Given the description of an element on the screen output the (x, y) to click on. 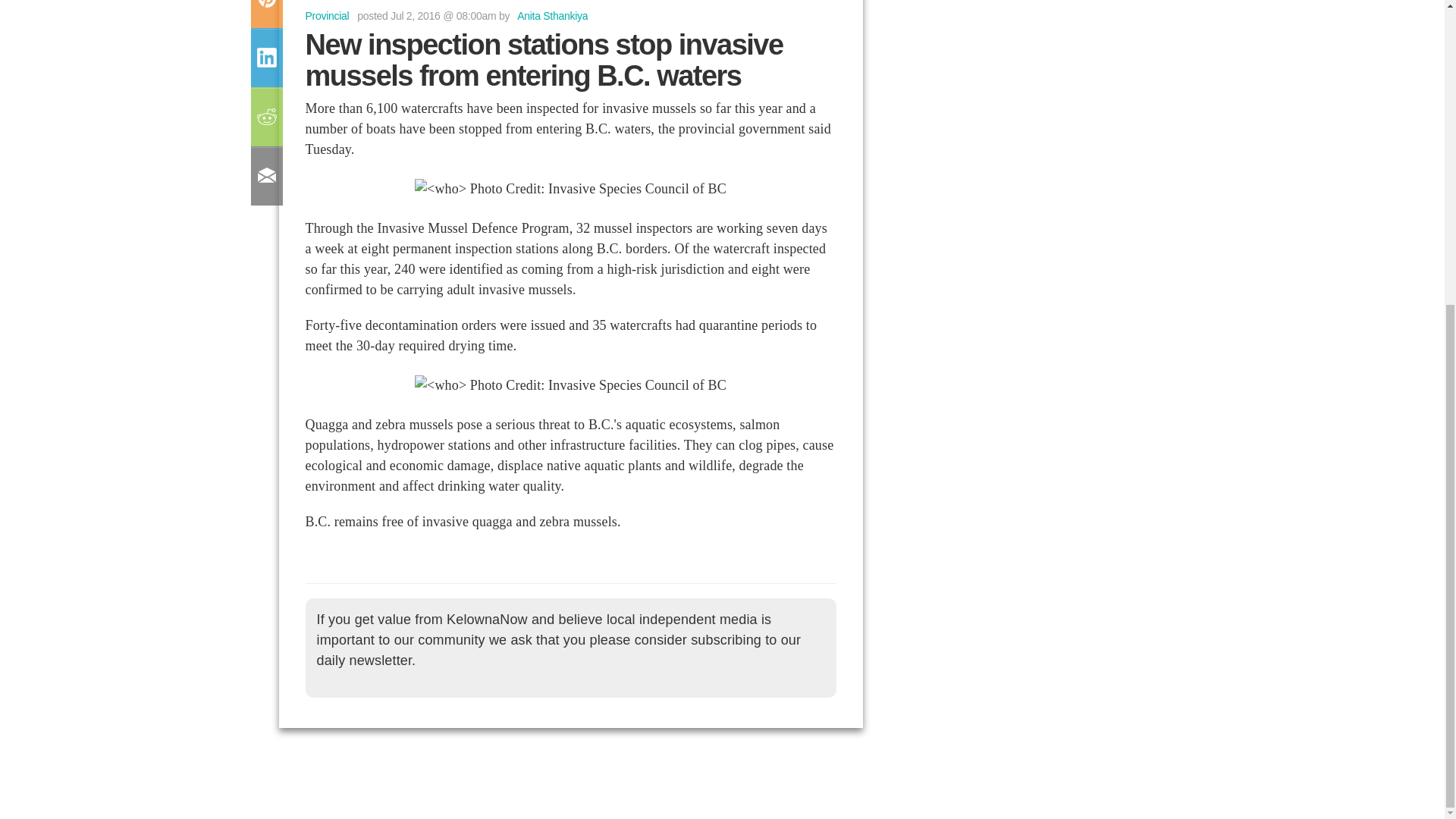
Share on Reddit (266, 116)
Share on LinkedIn (266, 57)
Share with email (266, 175)
Share on Pintrest (266, 4)
